Given the description of an element on the screen output the (x, y) to click on. 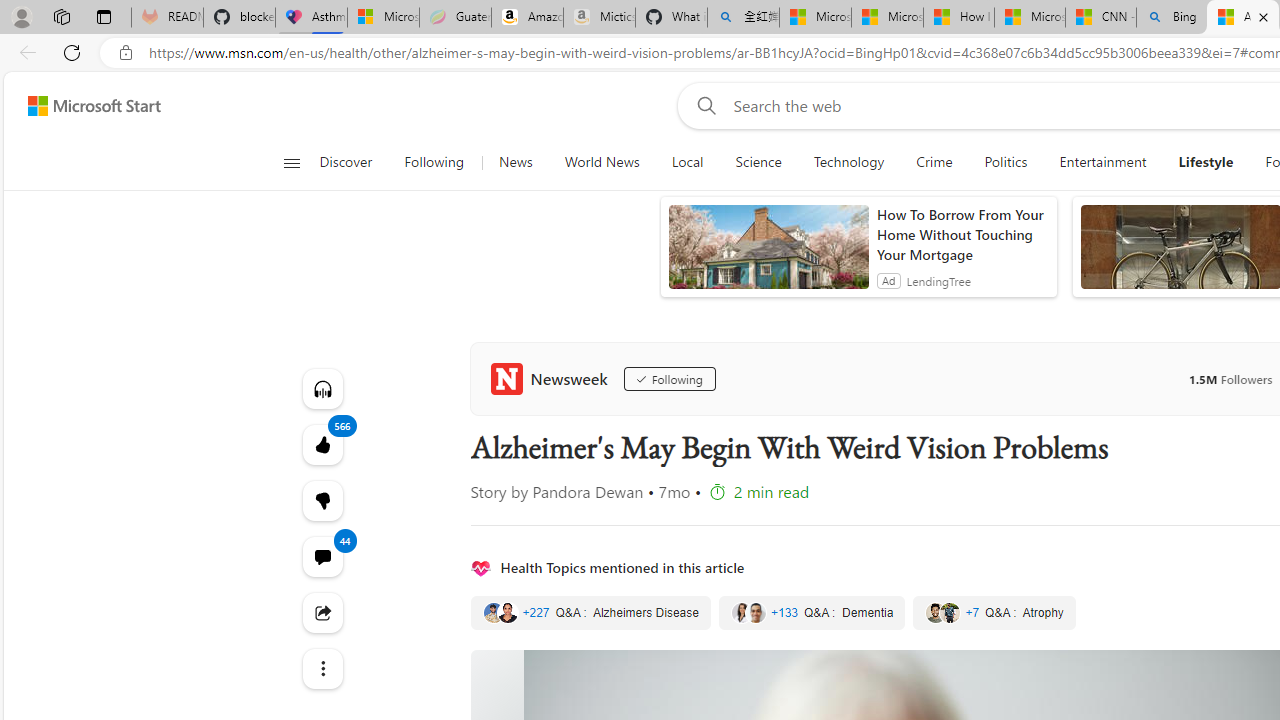
View comments 44 Comment (322, 556)
World News (601, 162)
anim-content (768, 255)
Ad (888, 280)
CNN - MSN (1101, 17)
See more (322, 668)
News (514, 162)
Politics (1005, 162)
Local (687, 162)
News (515, 162)
Back (24, 52)
Microsoft-Report a Concern to Bing (383, 17)
